Given the description of an element on the screen output the (x, y) to click on. 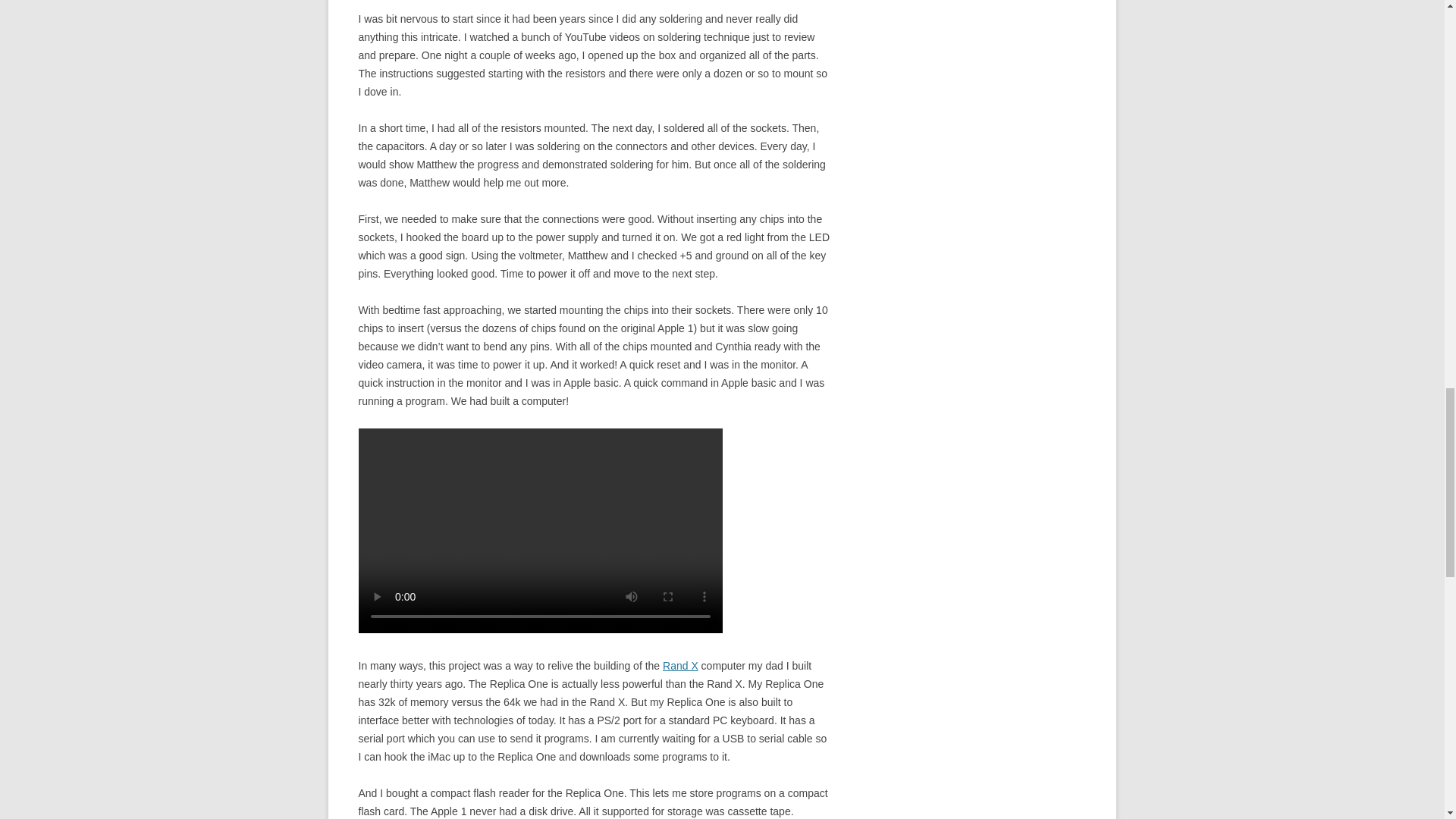
Rand X (680, 665)
